Given the description of an element on the screen output the (x, y) to click on. 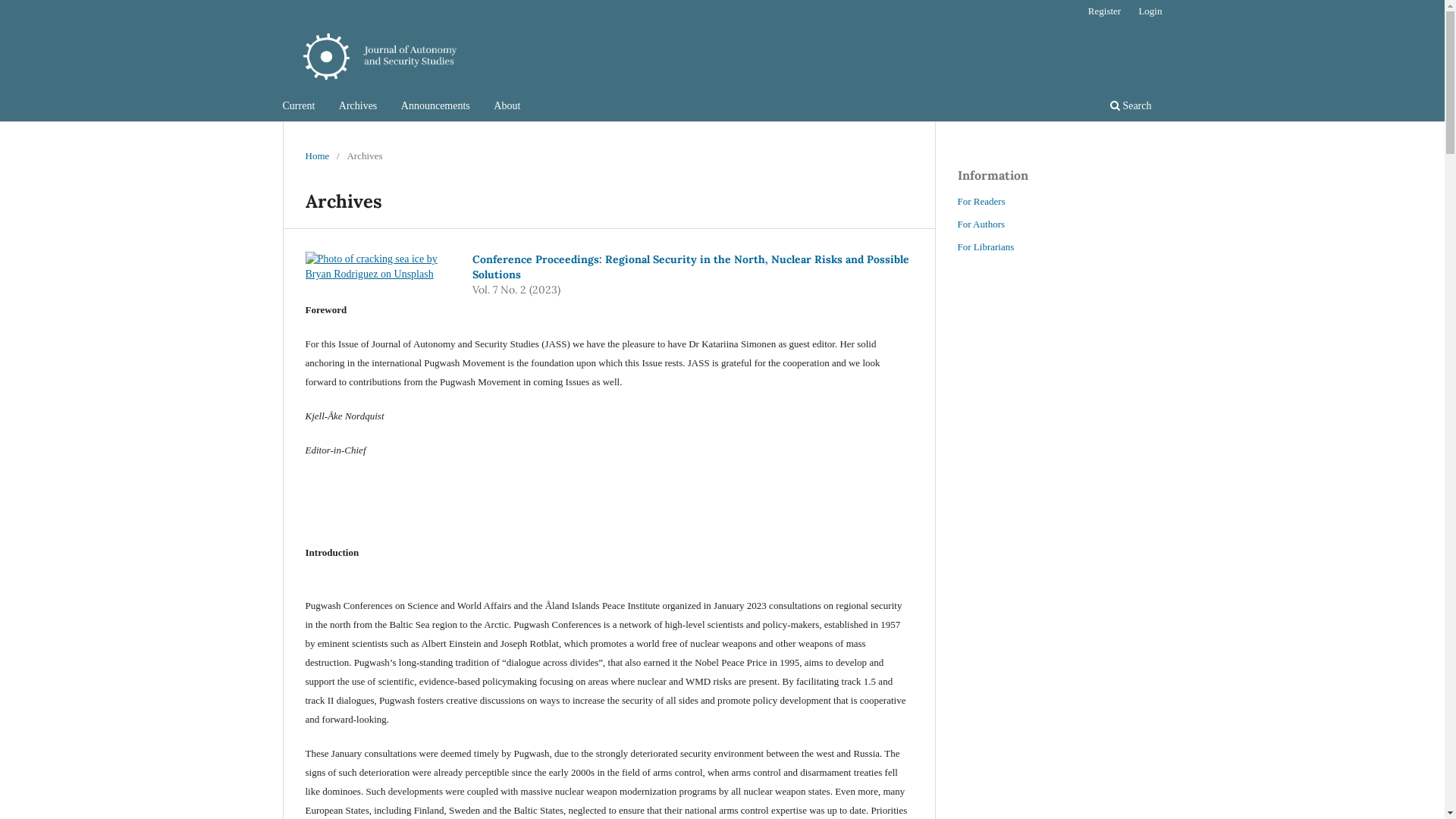
About Element type: text (506, 107)
For Authors Element type: text (980, 223)
Current Element type: text (298, 107)
Register Element type: text (1104, 11)
Login Element type: text (1149, 11)
Home Element type: text (316, 155)
For Readers Element type: text (980, 201)
Search Element type: text (1130, 107)
For Librarians Element type: text (985, 246)
Archives Element type: text (357, 107)
Announcements Element type: text (435, 107)
